Given the description of an element on the screen output the (x, y) to click on. 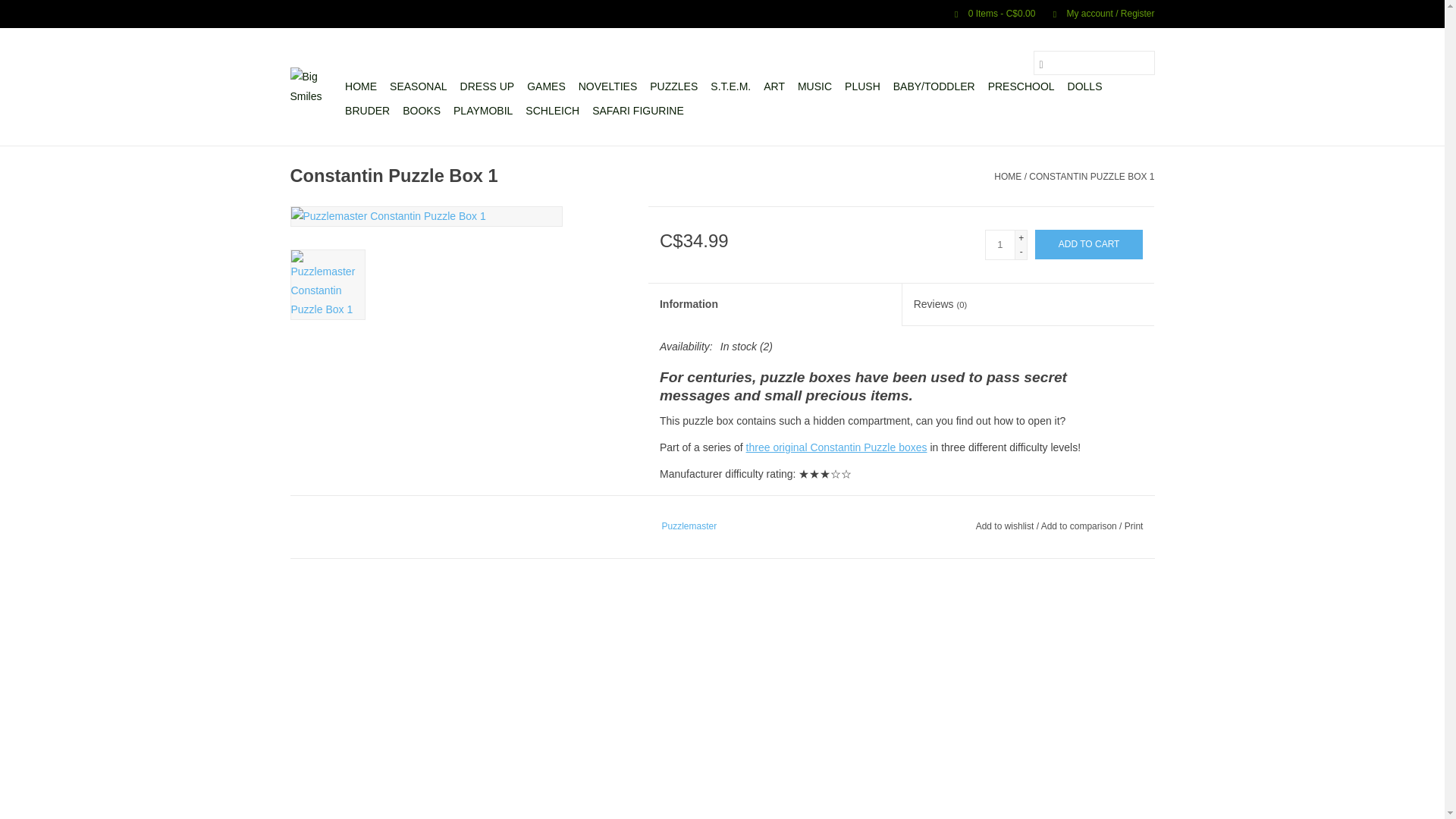
Cart (988, 13)
NOVELTIES (607, 86)
Games (546, 86)
Big Smiles (314, 86)
Seasonal (418, 86)
PUZZLES (673, 86)
1 (999, 245)
GAMES (546, 86)
DRESS UP (487, 86)
SEASONAL (418, 86)
